Given the description of an element on the screen output the (x, y) to click on. 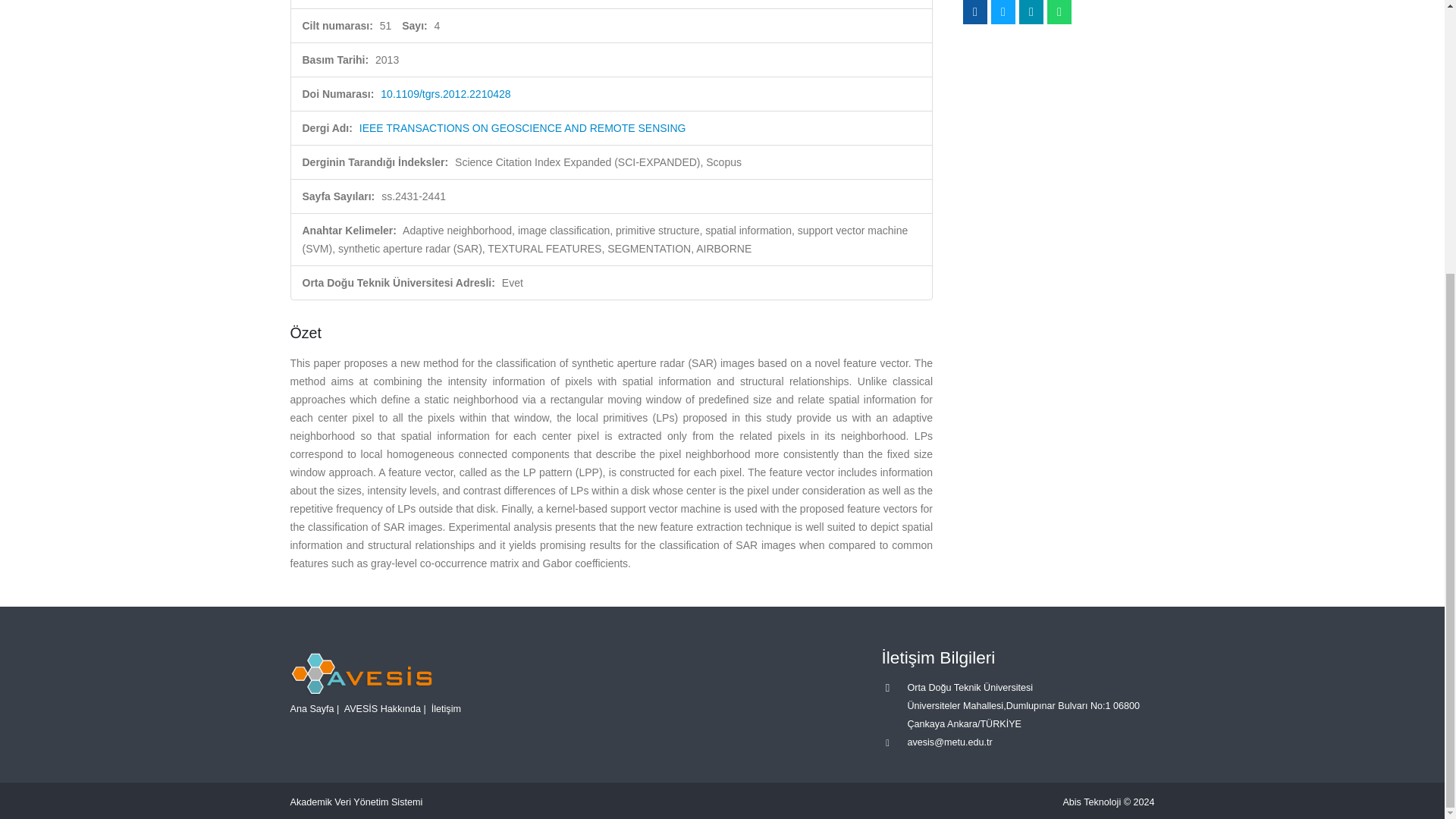
IEEE TRANSACTIONS ON GEOSCIENCE AND REMOTE SENSING (522, 128)
Ana Sayfa (311, 708)
Abis Teknoloji (1091, 801)
